Given the description of an element on the screen output the (x, y) to click on. 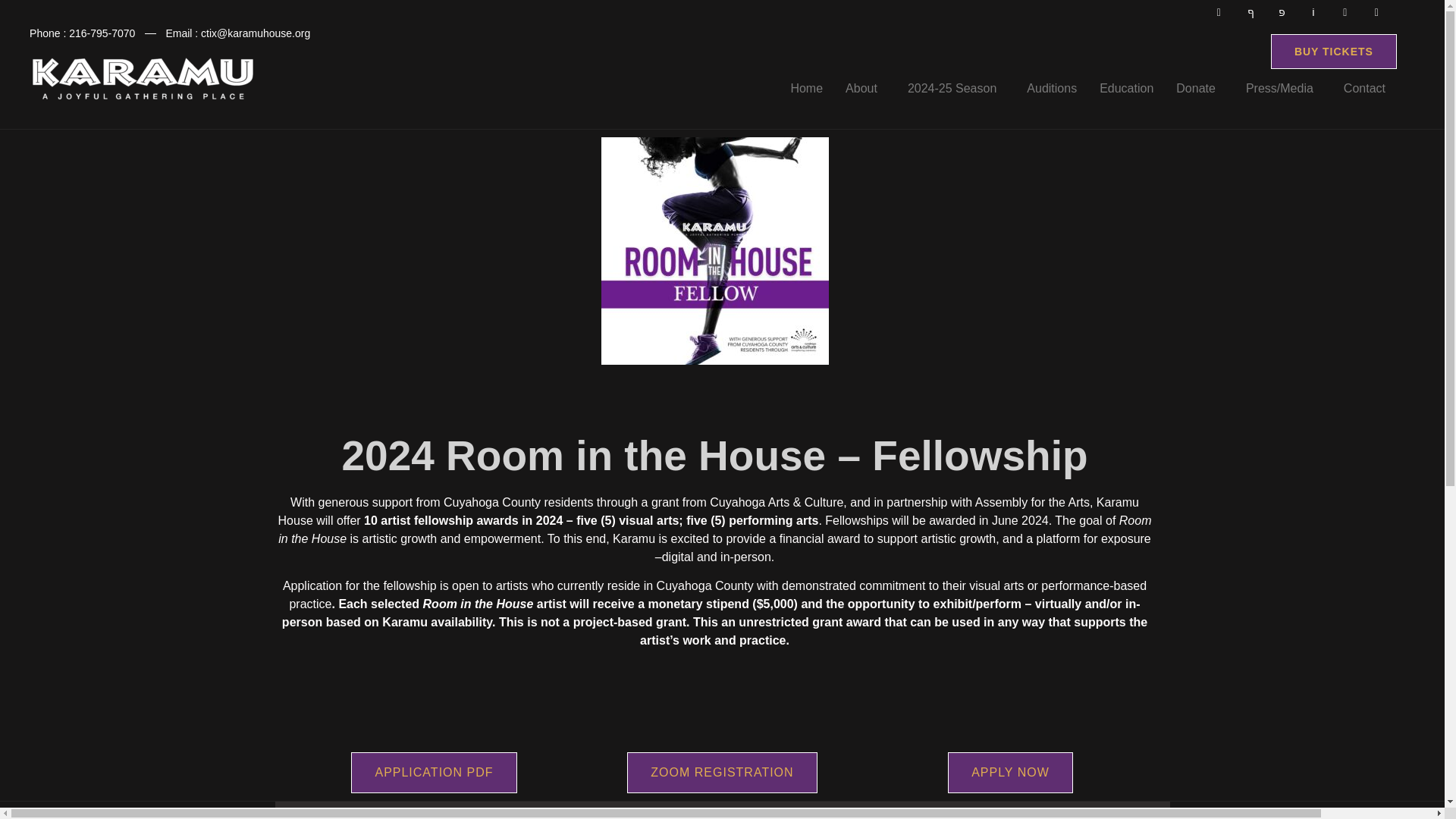
About (865, 88)
BUY TICKETS (1333, 51)
Contact (1364, 88)
Education (1125, 88)
Auditions (1050, 88)
Donate (1199, 88)
2024-25 Season (955, 88)
Home (806, 88)
